Given the description of an element on the screen output the (x, y) to click on. 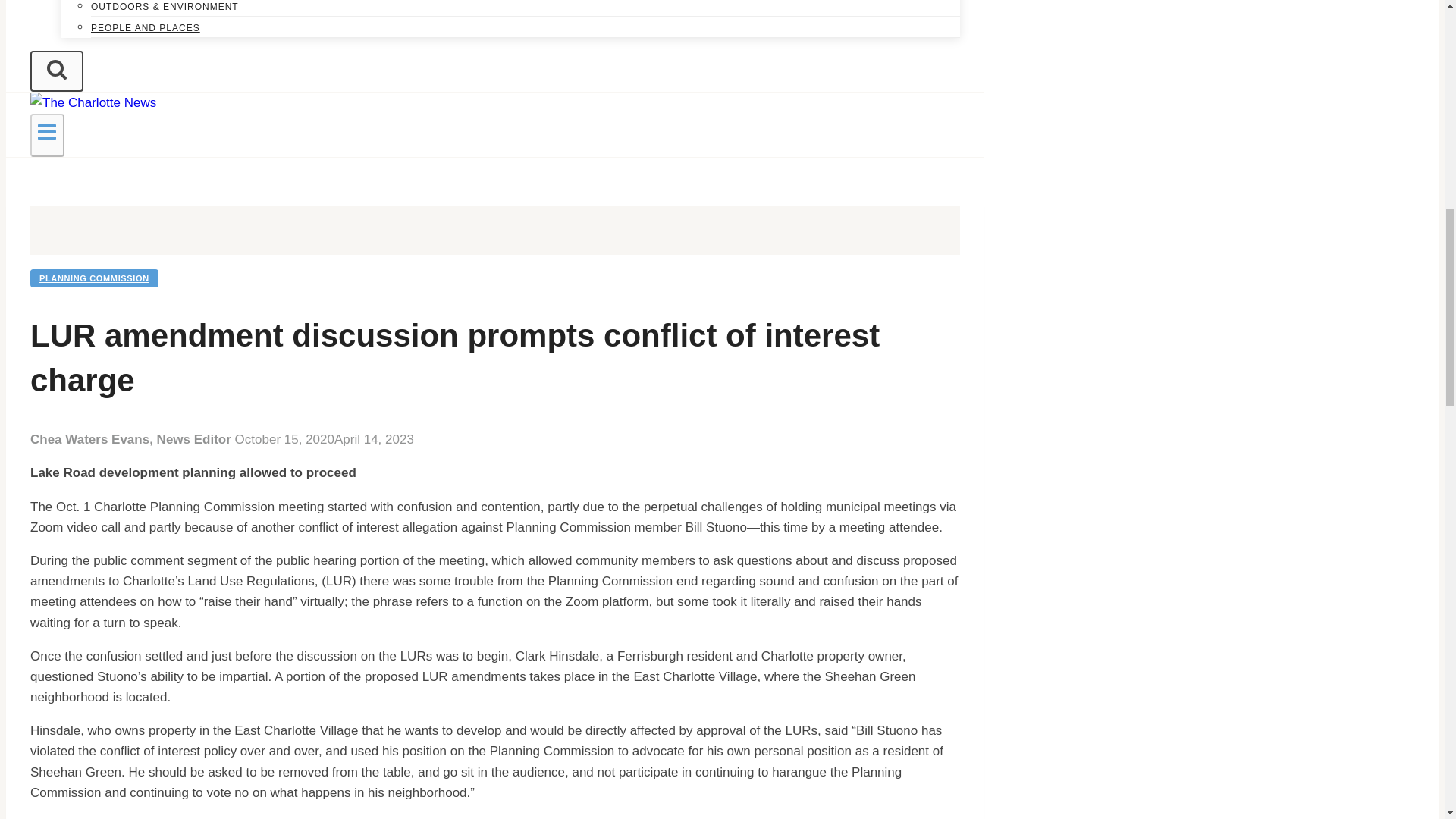
PEOPLE AND PLACES (145, 27)
Search (56, 68)
Search (56, 70)
